Given the description of an element on the screen output the (x, y) to click on. 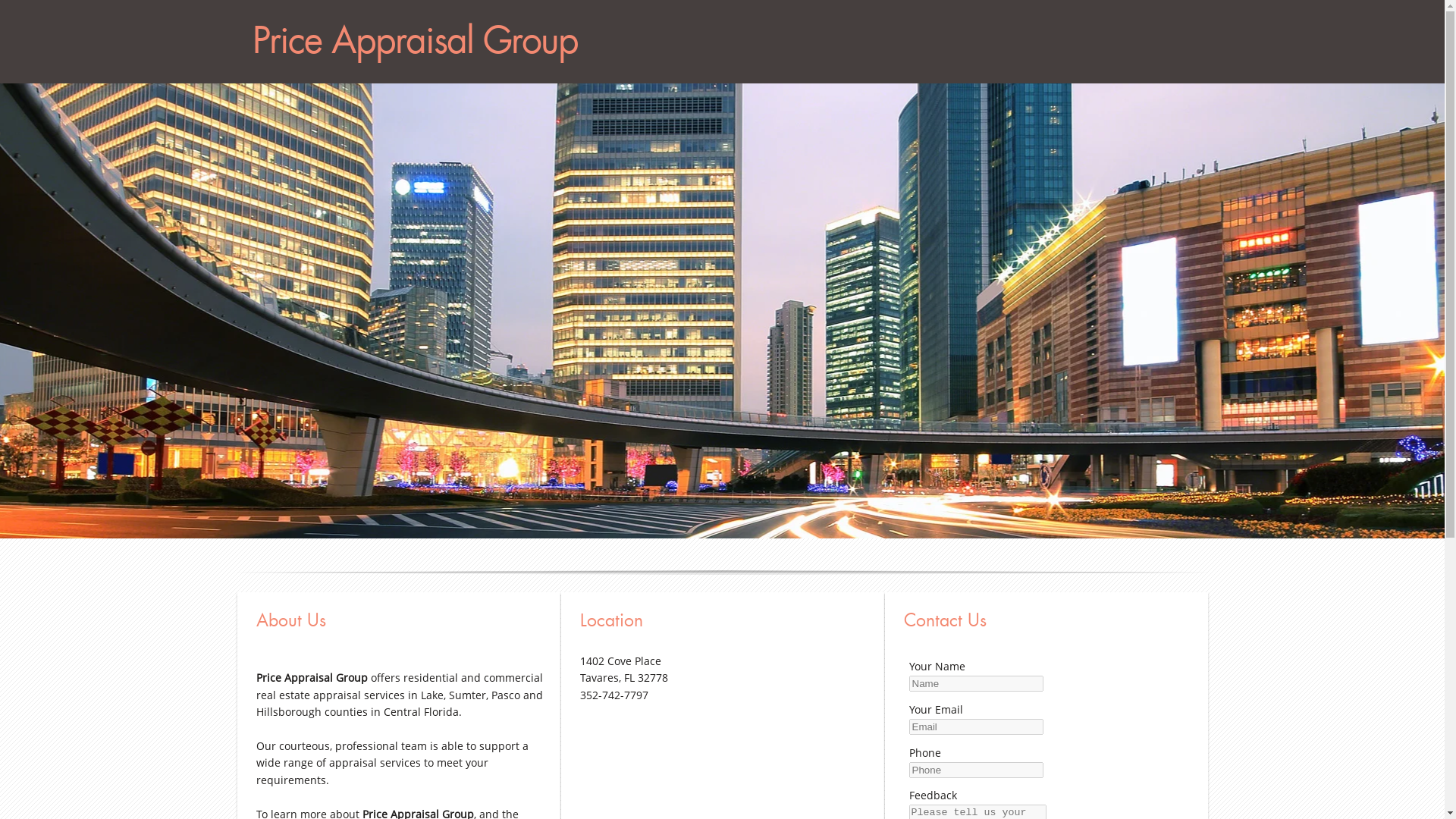
Price Appraisal Group (658, 41)
Contact Us (1048, 616)
Go to site home page (658, 41)
Location (723, 616)
About Us (400, 616)
